Given the description of an element on the screen output the (x, y) to click on. 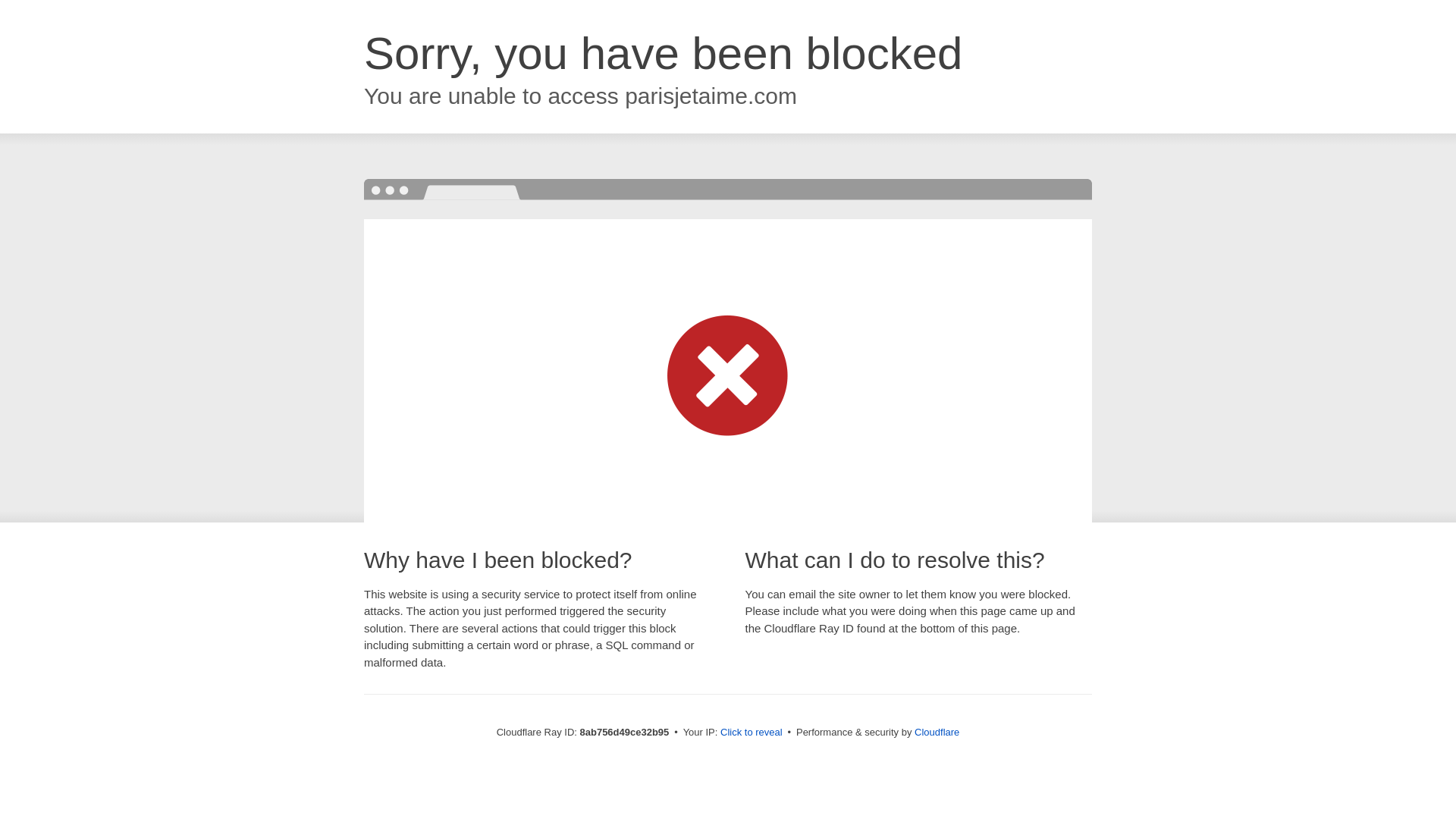
Cloudflare (936, 731)
Click to reveal (751, 732)
